Given the description of an element on the screen output the (x, y) to click on. 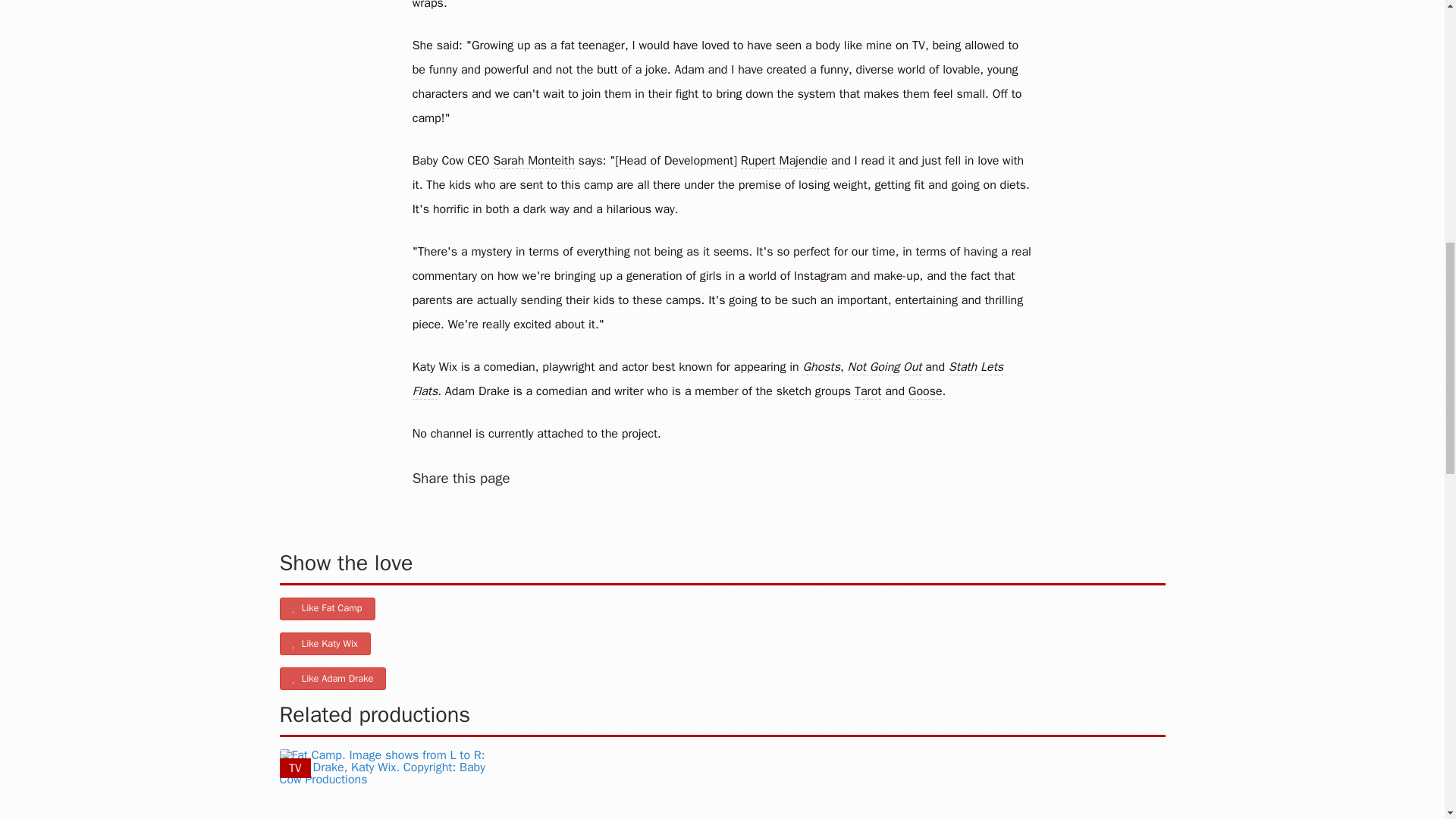
AKA Adam Drake. Click to view profile. (925, 391)
Tarot profile (867, 391)
Katy Wix profile (434, 366)
Stath Lets Flats (707, 379)
Like Adam Drake (332, 678)
Adam Drake profile (477, 391)
Tarot (867, 391)
Sarah Monteith (533, 160)
